Given the description of an element on the screen output the (x, y) to click on. 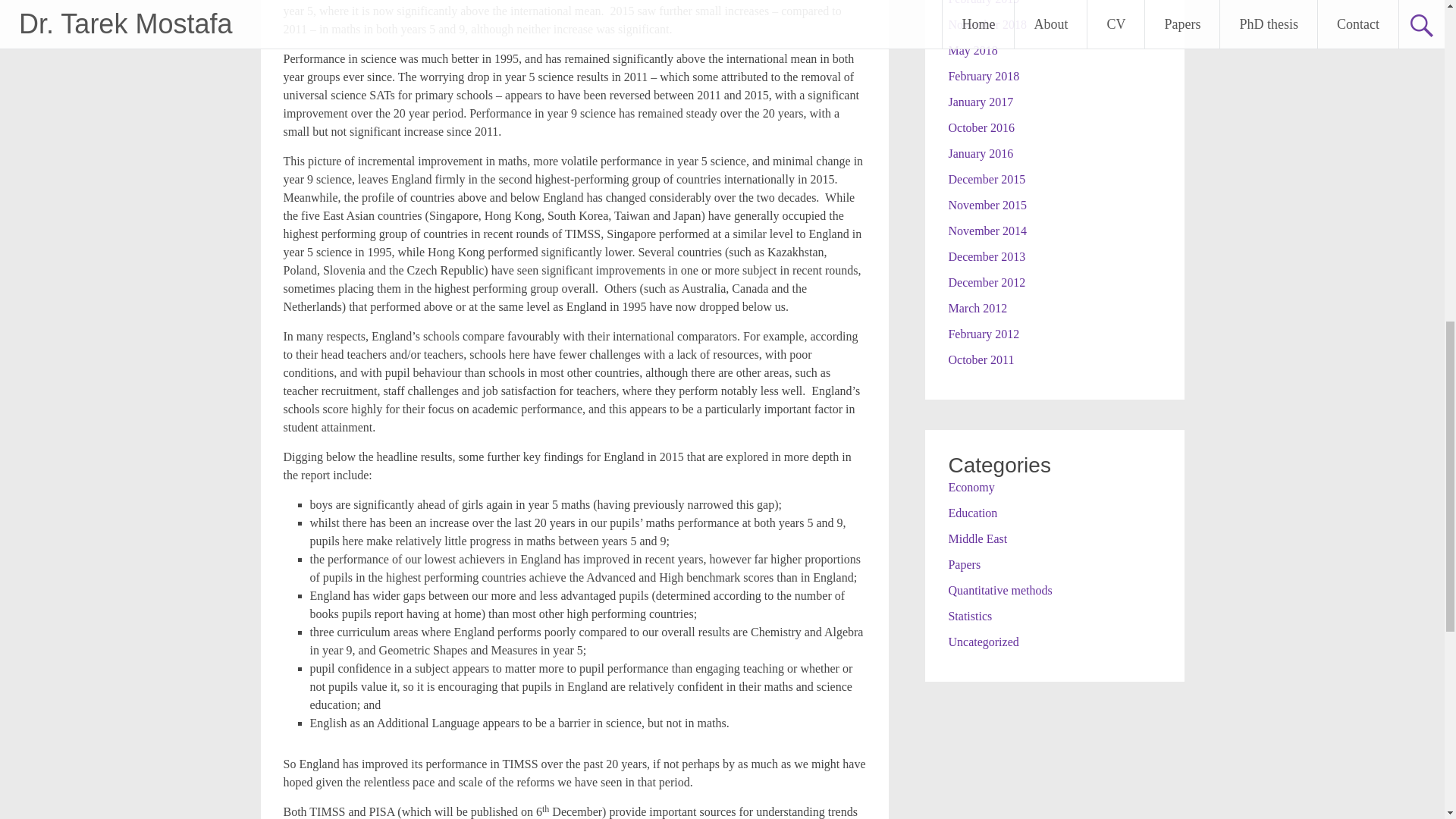
December 2012 (986, 282)
October 2016 (980, 127)
February 2018 (983, 75)
November 2014 (986, 230)
November 2018 (986, 24)
November 2015 (986, 205)
February 2019 (983, 2)
May 2018 (972, 50)
January 2016 (980, 153)
December 2015 (986, 178)
